Given the description of an element on the screen output the (x, y) to click on. 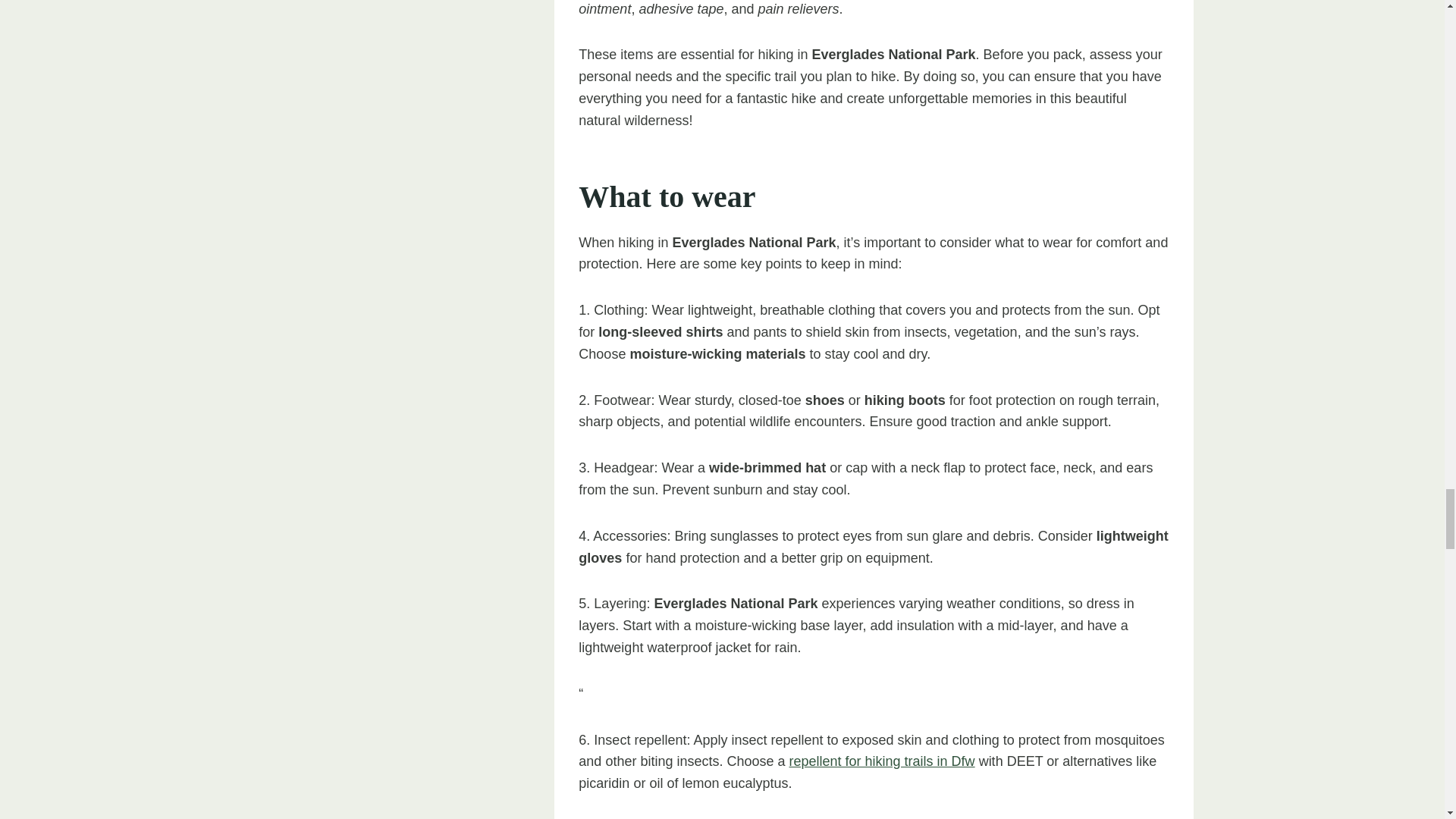
repellent for hiking trails in Dfw (882, 761)
